Given the description of an element on the screen output the (x, y) to click on. 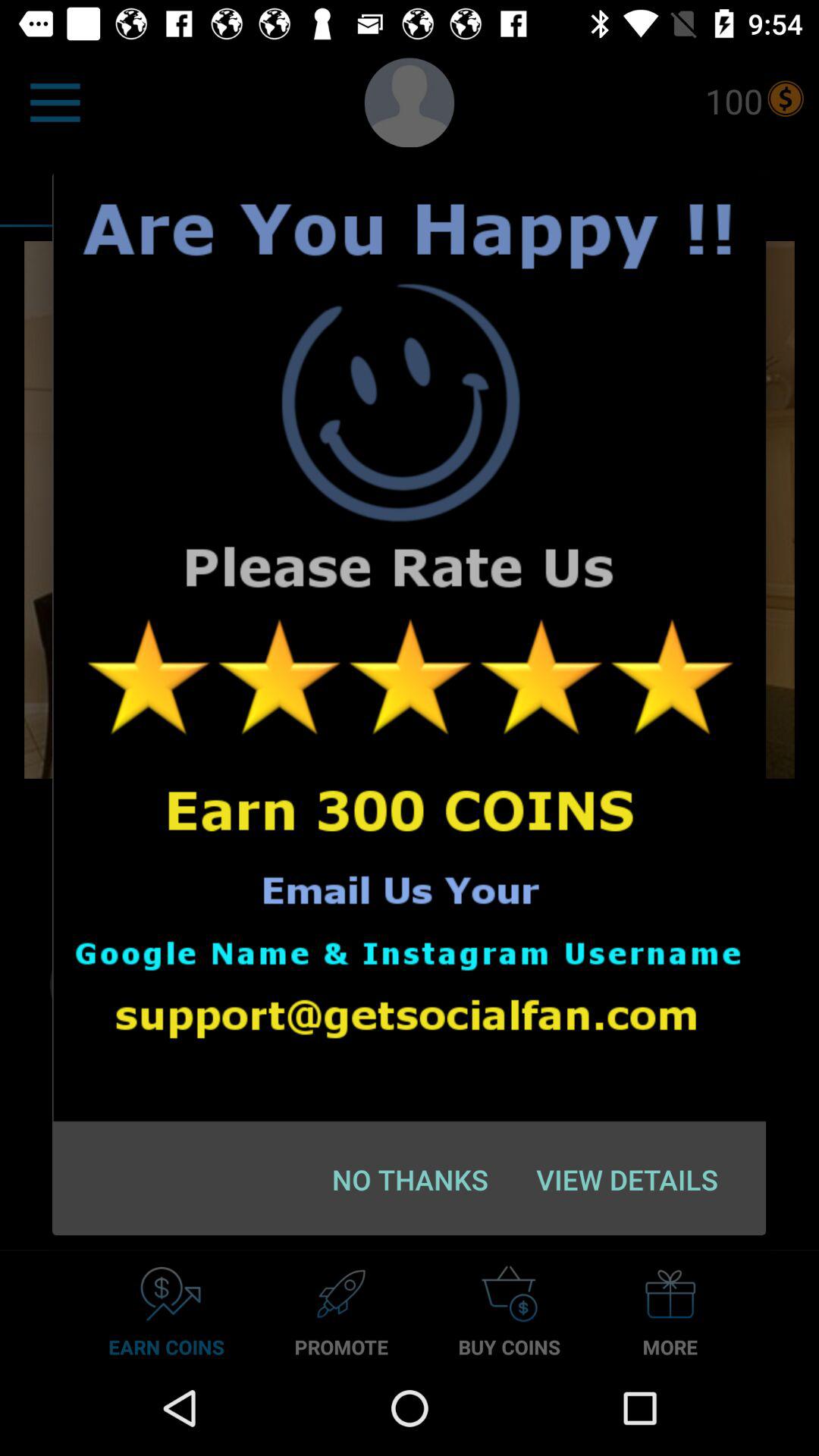
tap the no thanks (410, 1179)
